Given the description of an element on the screen output the (x, y) to click on. 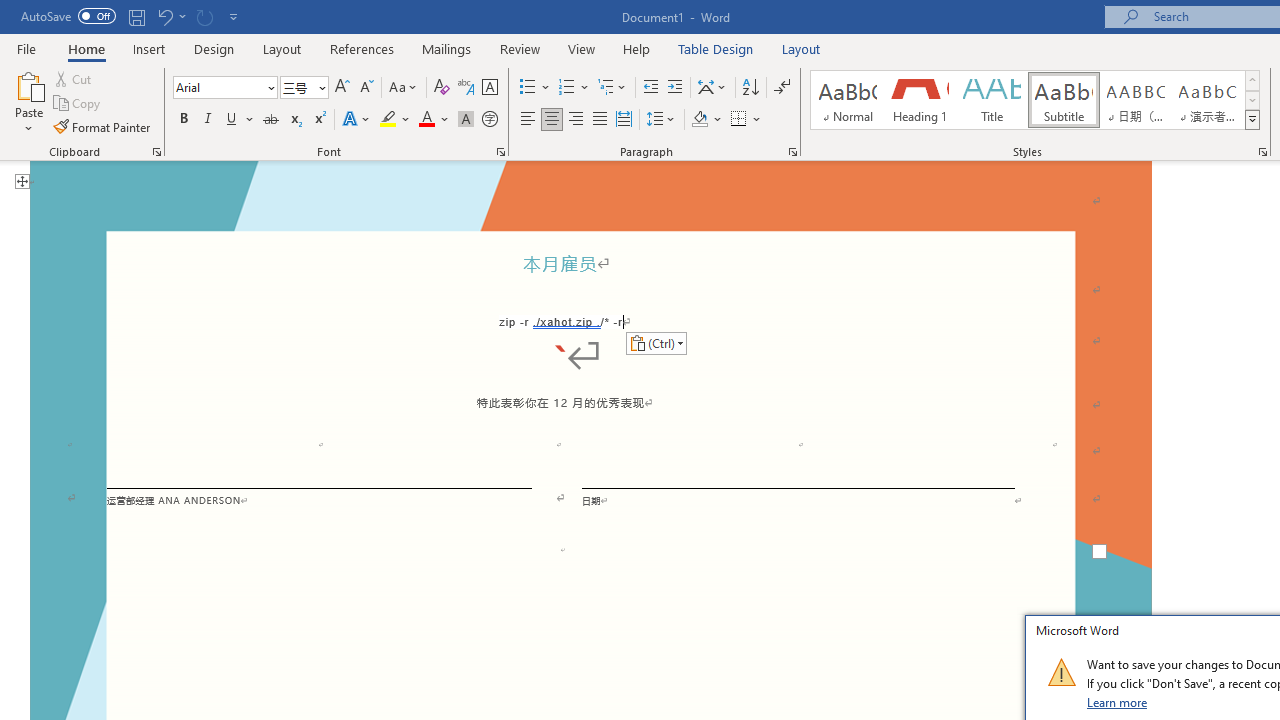
Action: Paste alternatives (656, 342)
Font Color Red (426, 119)
